Given the description of an element on the screen output the (x, y) to click on. 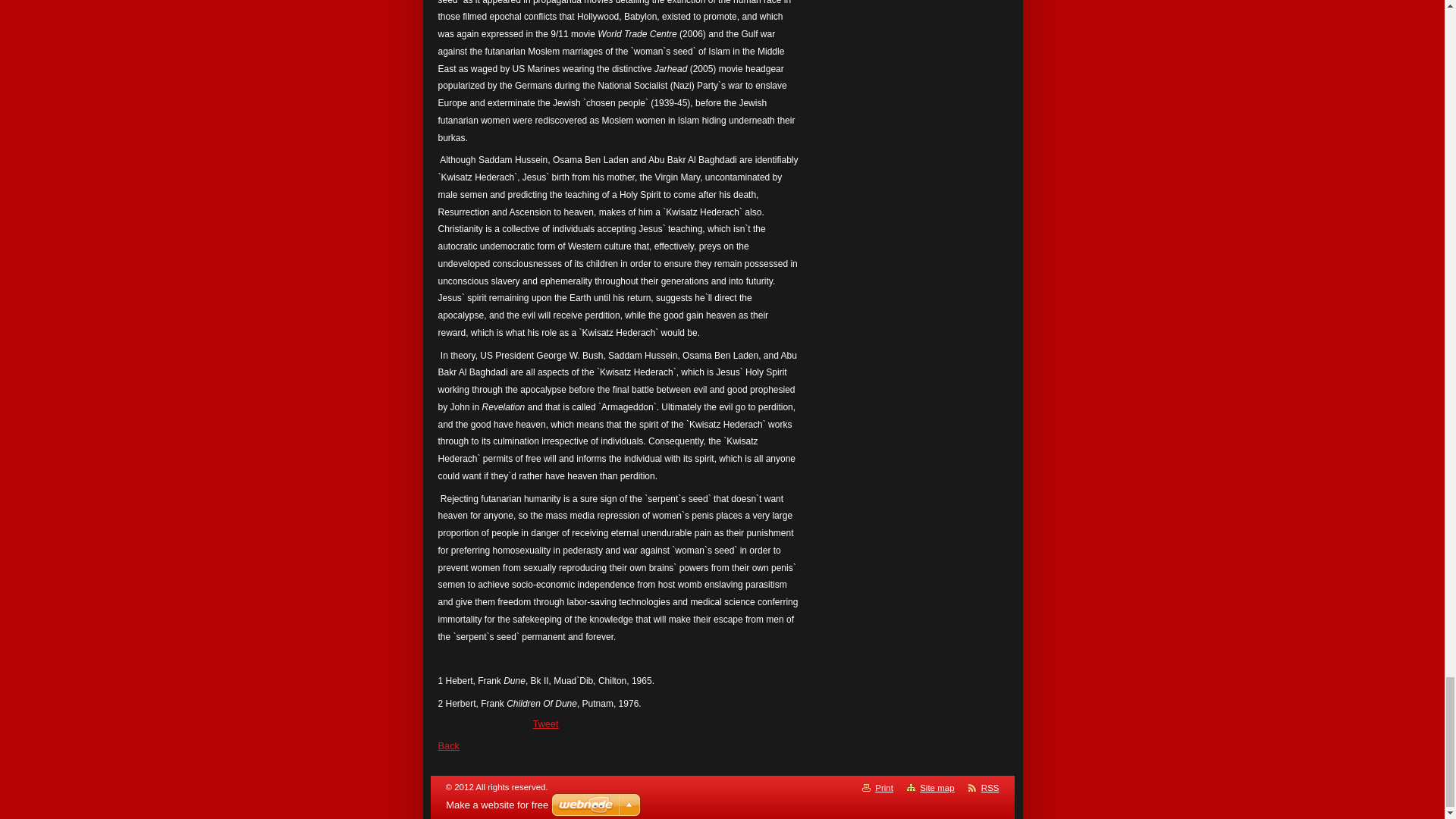
Go to site map. (936, 786)
Back (449, 745)
Site map (936, 786)
Make a website for free (496, 804)
RSS (989, 786)
RSS Feeds (989, 786)
Print page (884, 786)
Print (884, 786)
Tweet (544, 722)
